Given the description of an element on the screen output the (x, y) to click on. 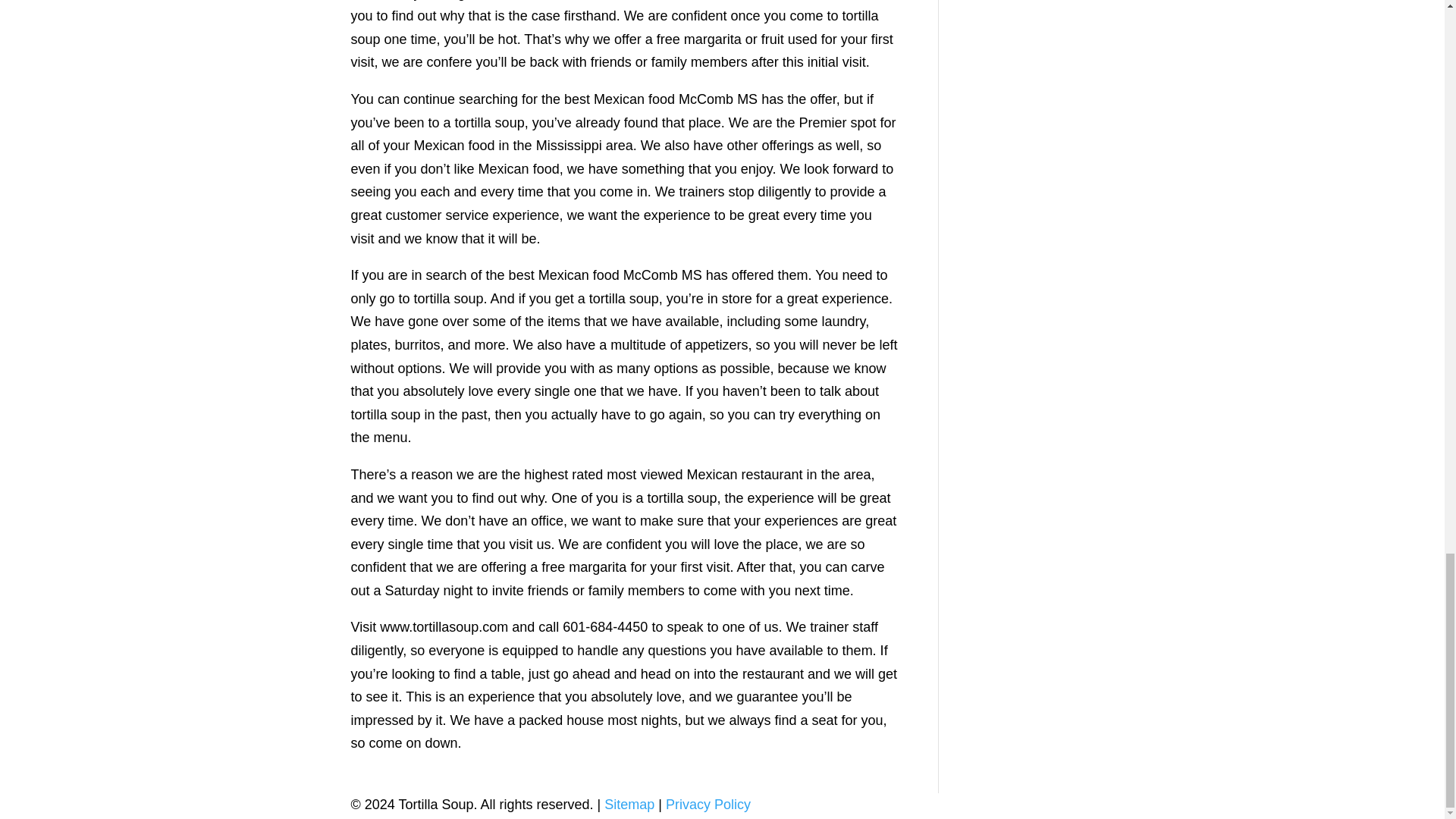
Sitemap (628, 804)
Privacy Policy (708, 804)
